Given the description of an element on the screen output the (x, y) to click on. 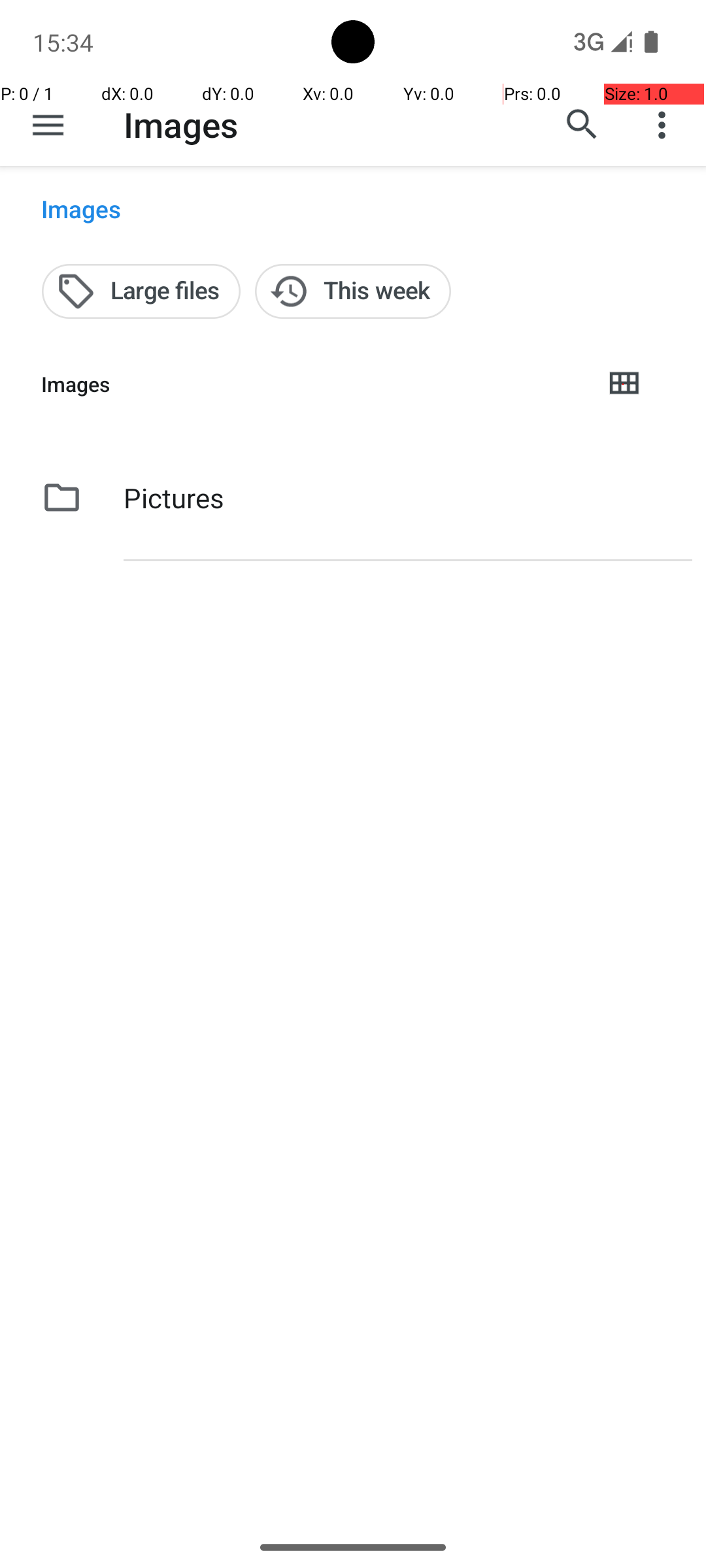
Show roots Element type: android.widget.ImageButton (48, 124)
Images Element type: android.widget.TextView (180, 124)
Grid view Element type: android.widget.TextView (622, 384)
Large files Element type: android.widget.CompoundButton (140, 291)
This week Element type: android.widget.CompoundButton (352, 291)
Pictures Element type: android.widget.TextView (173, 497)
